Given the description of an element on the screen output the (x, y) to click on. 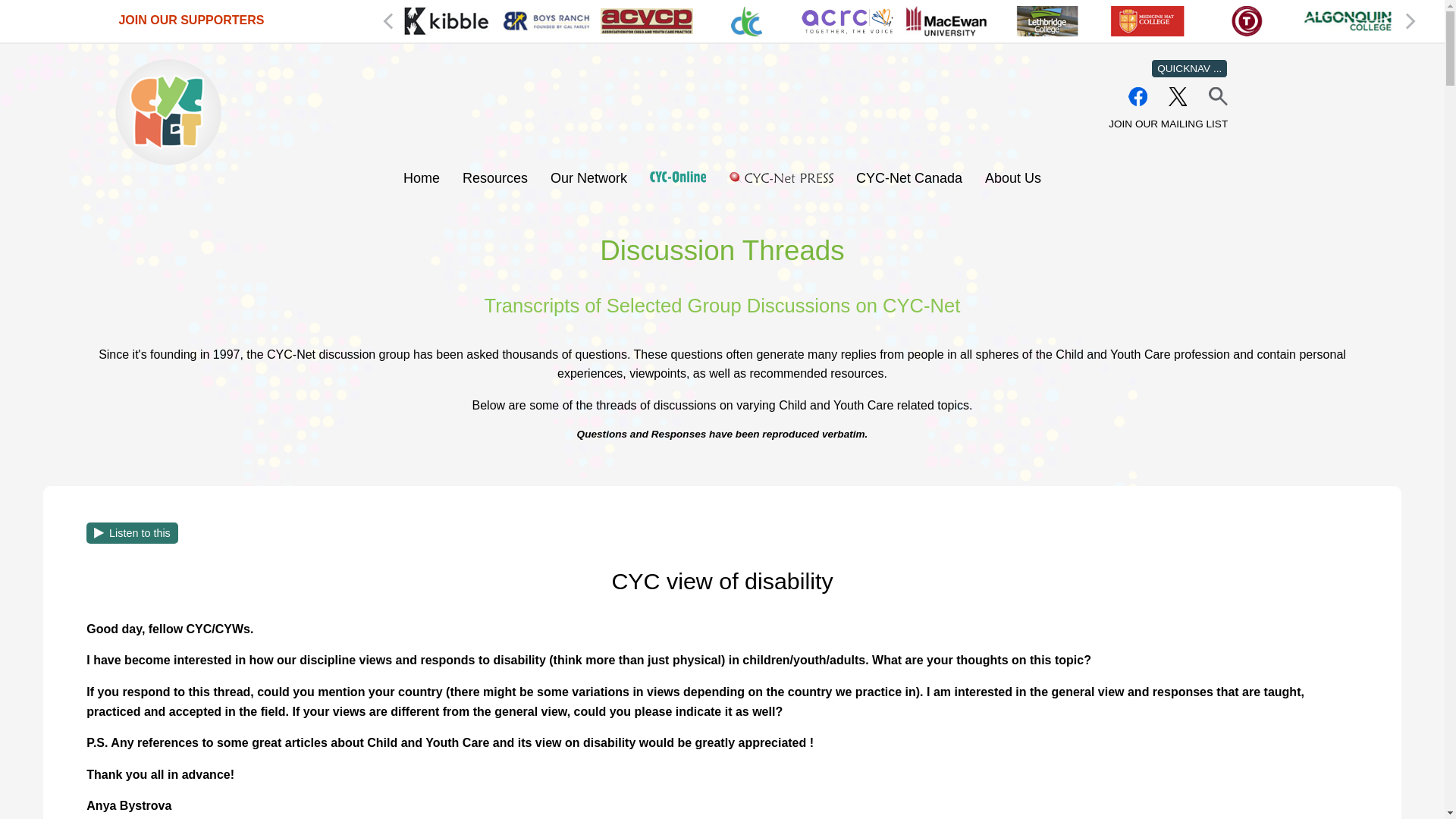
JOIN OUR SUPPORTERS (190, 19)
